Given the description of an element on the screen output the (x, y) to click on. 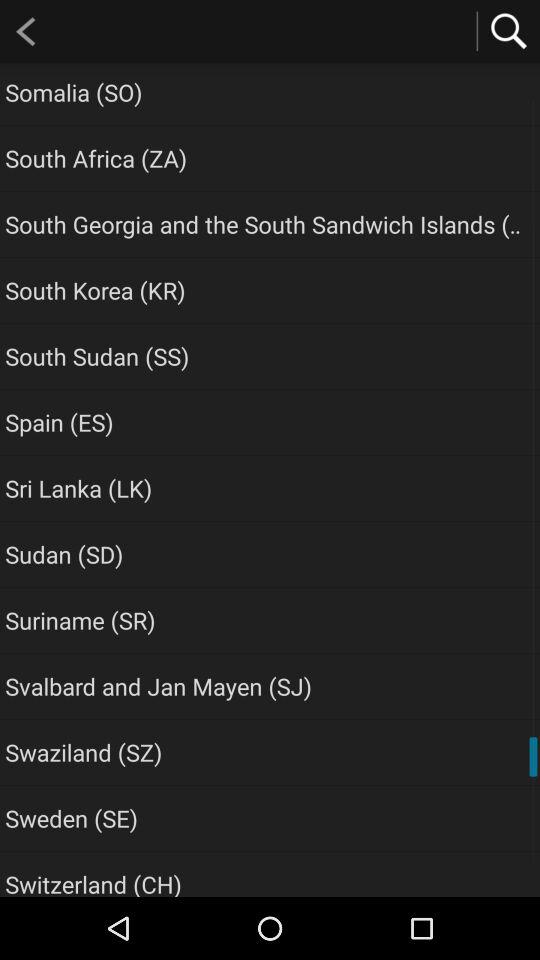
open the item below south georgia and item (95, 290)
